Given the description of an element on the screen output the (x, y) to click on. 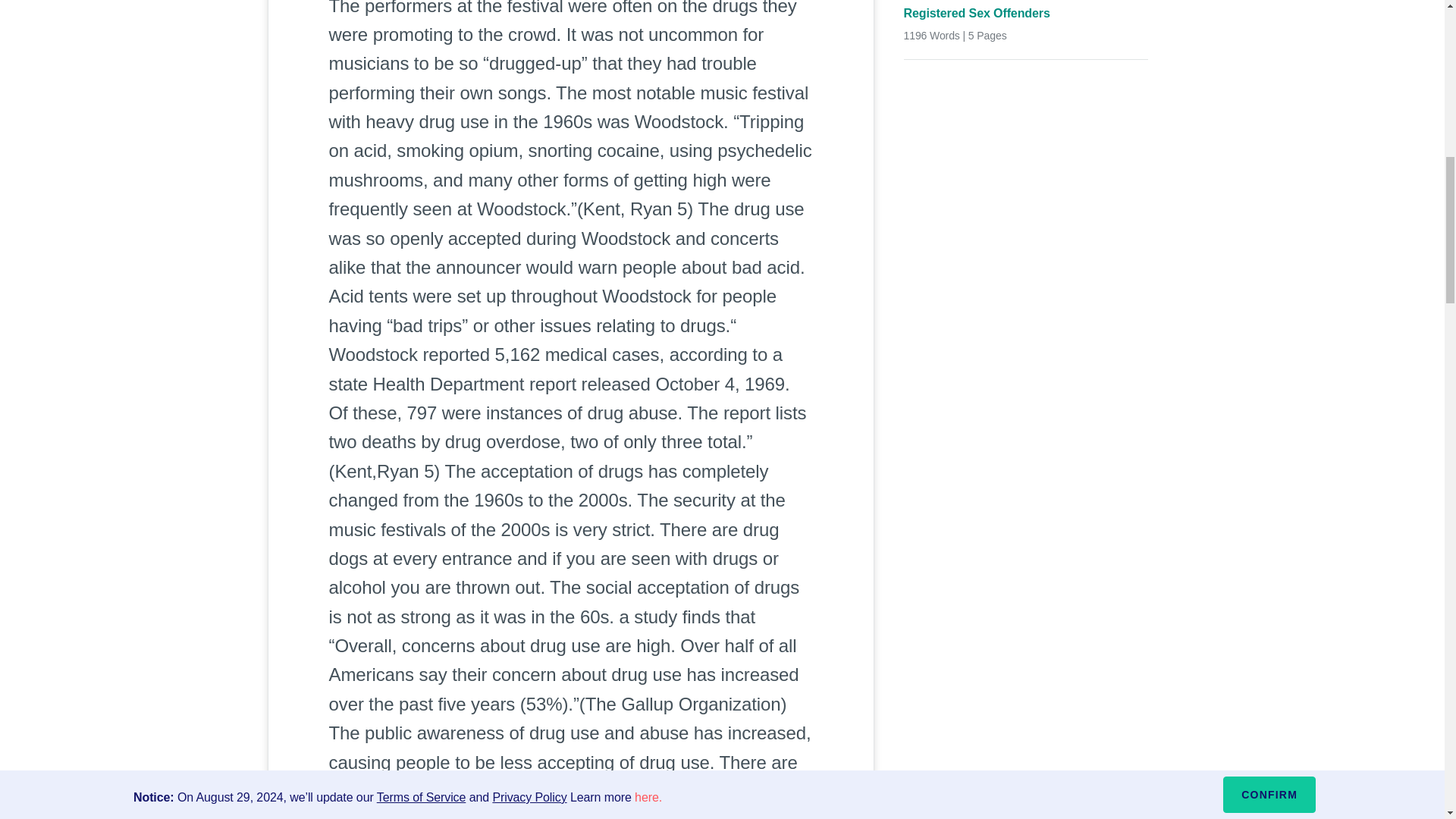
Registered Sex Offenders (1026, 13)
